Given the description of an element on the screen output the (x, y) to click on. 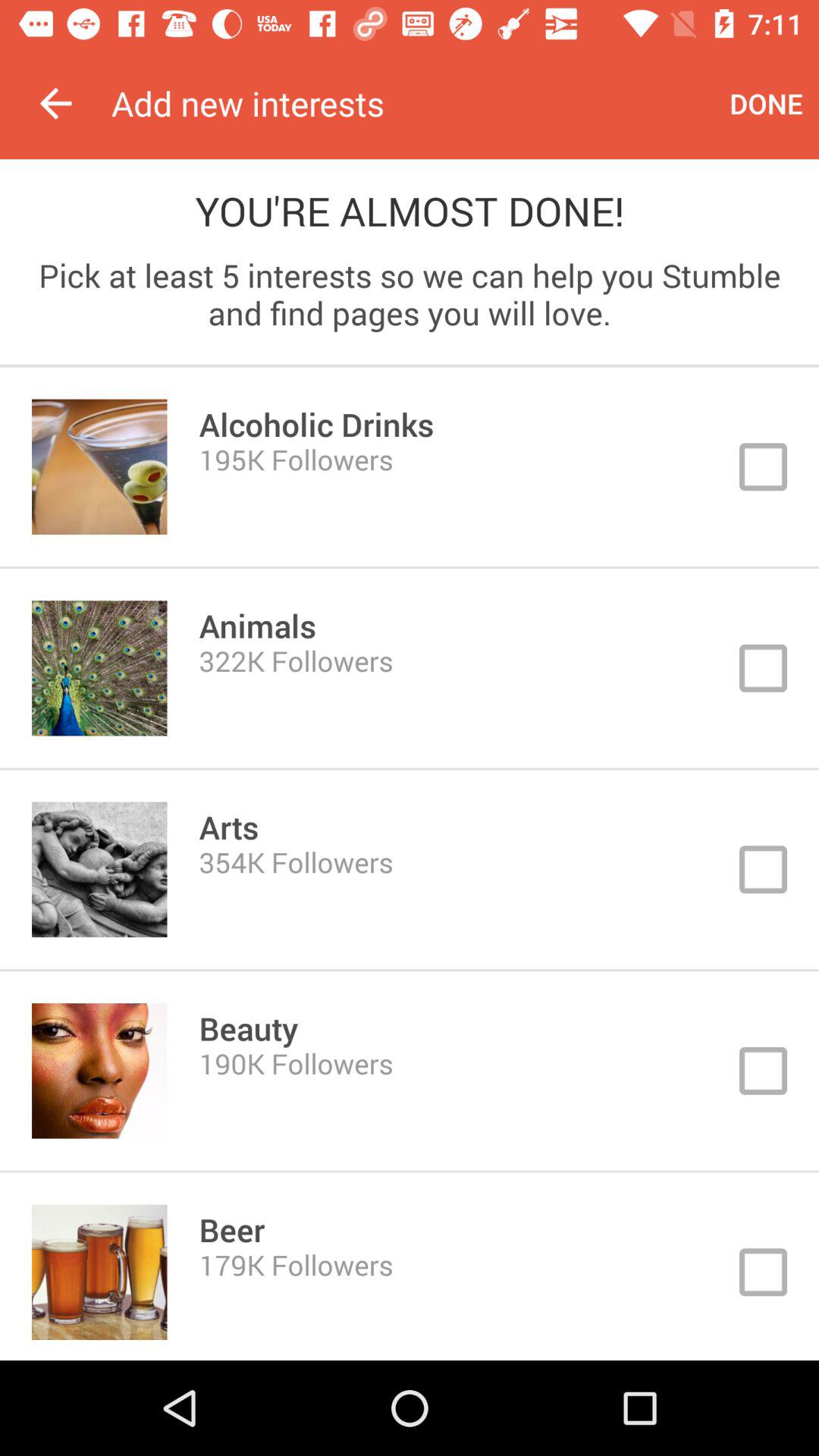
beauty (409, 1070)
